Given the description of an element on the screen output the (x, y) to click on. 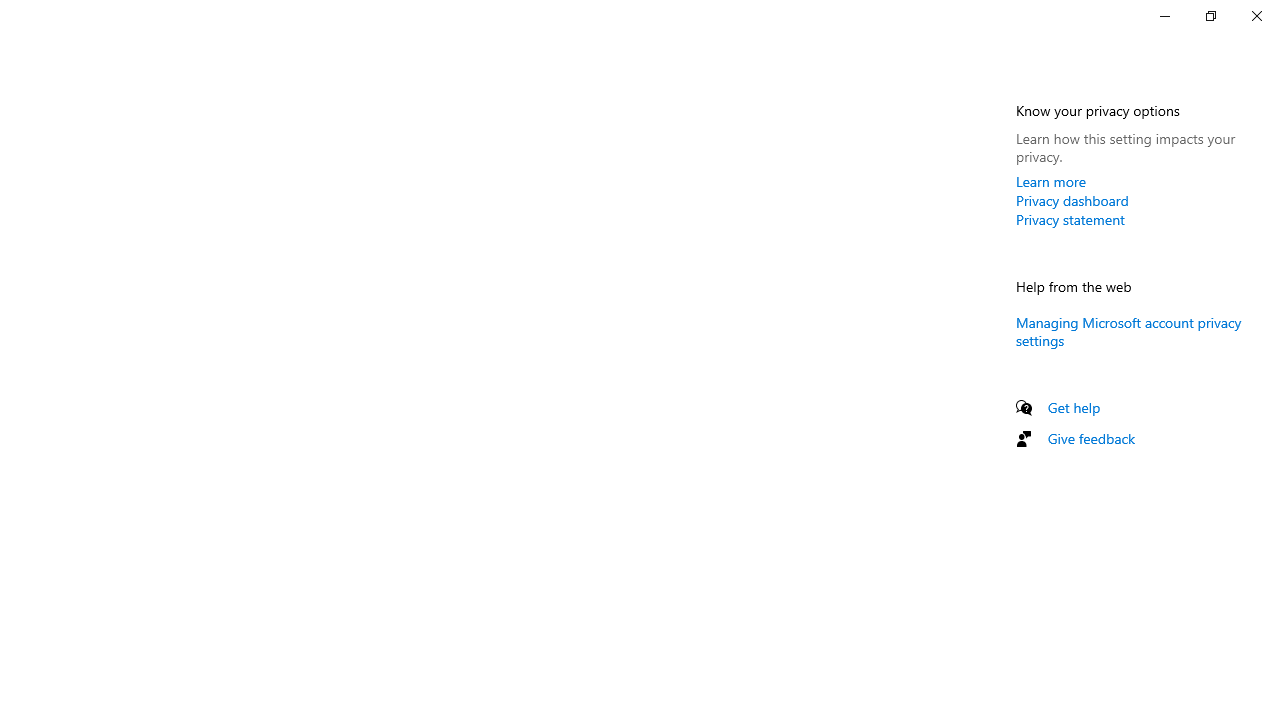
Privacy dashboard (1072, 200)
Privacy statement (1070, 219)
Learn more (1051, 181)
Get help (1074, 407)
Managing Microsoft account privacy settings (1128, 330)
Close Settings (1256, 15)
Restore Settings (1210, 15)
Give feedback (1091, 438)
Minimize Settings (1164, 15)
